Given the description of an element on the screen output the (x, y) to click on. 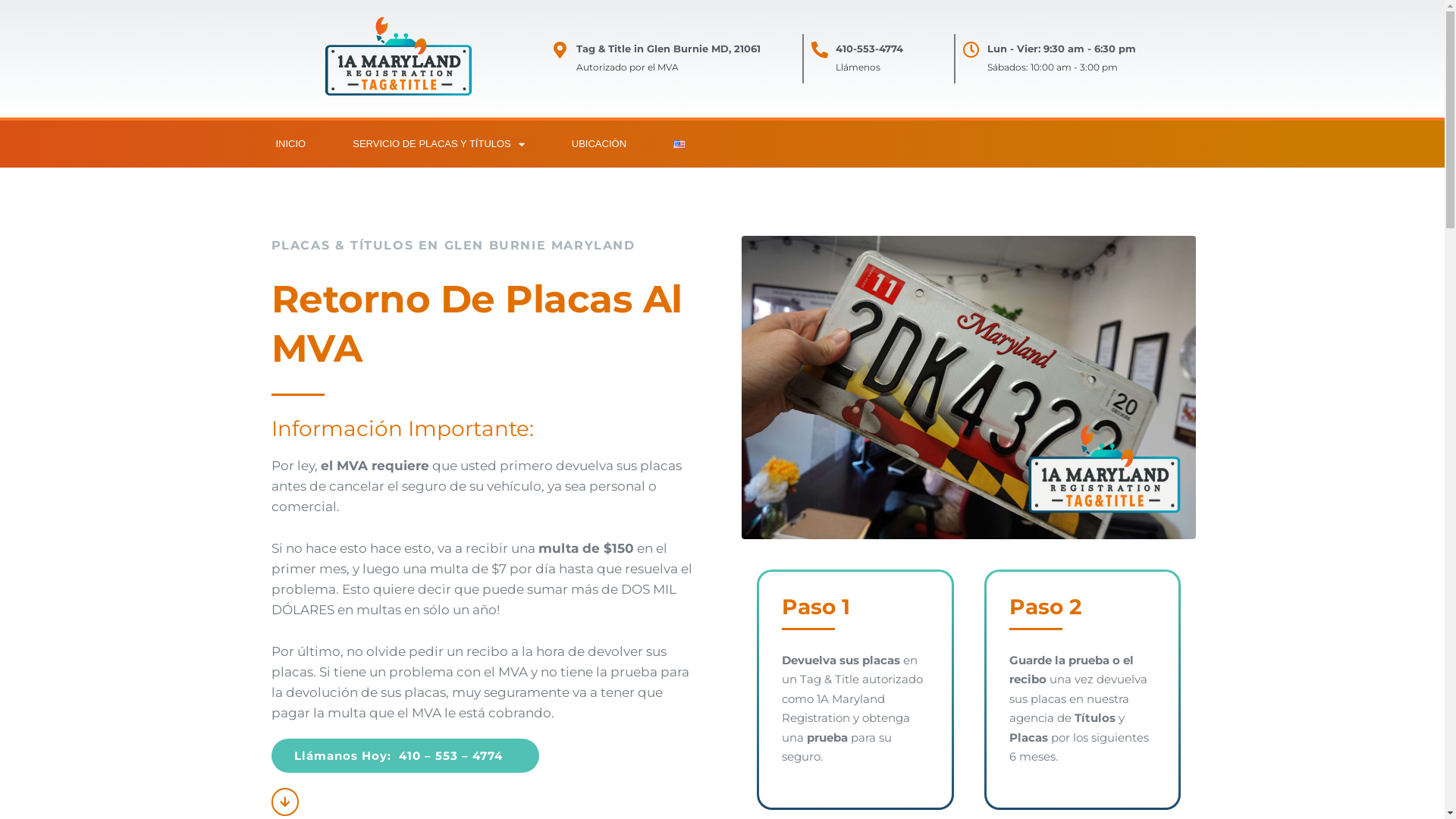
410-553-4774 Element type: text (869, 48)
INICIO Element type: text (290, 143)
Tag & Title in Glen Burnie MD, 21061 Element type: text (668, 48)
